Given the description of an element on the screen output the (x, y) to click on. 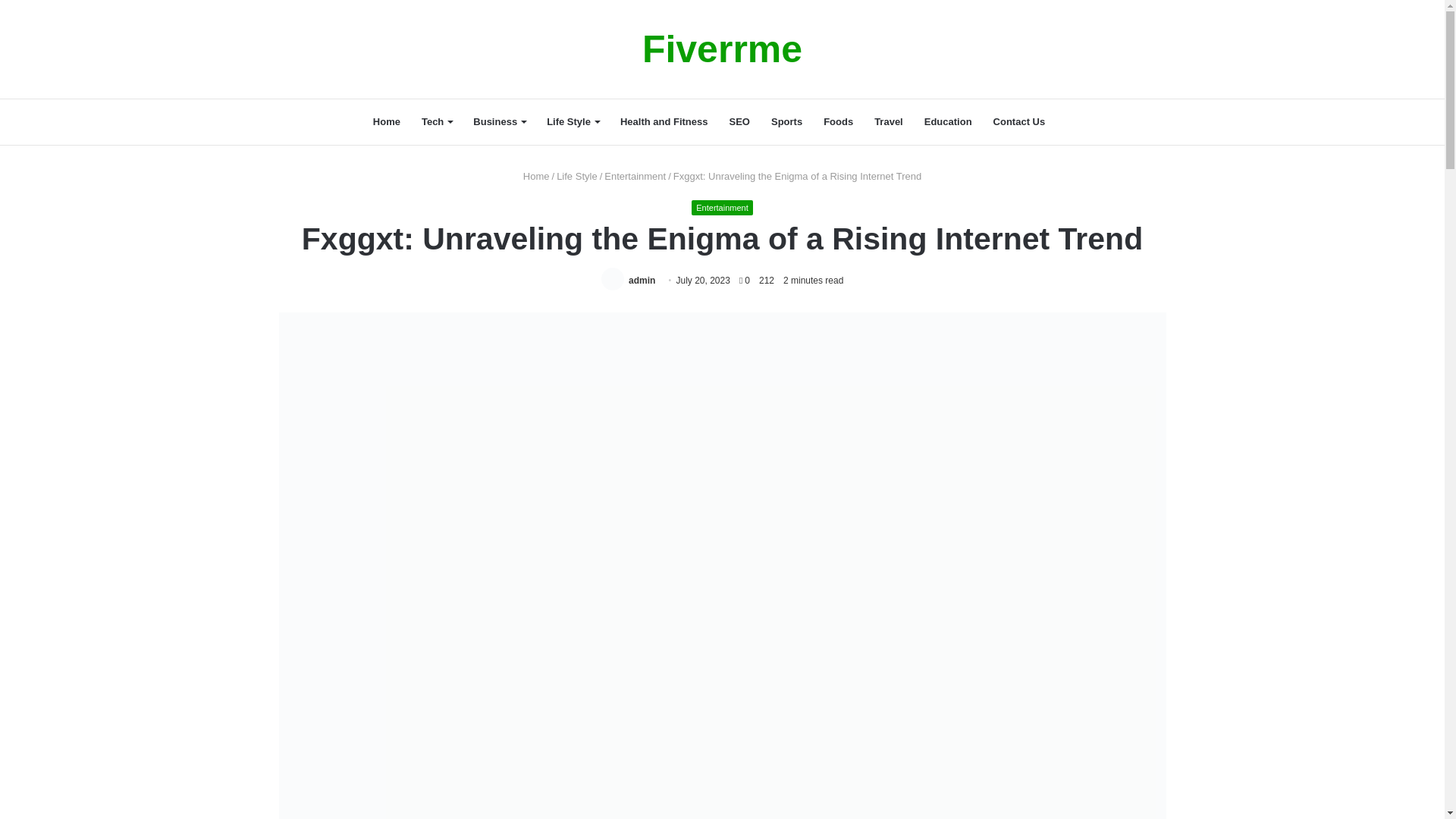
Fiverrme (722, 48)
Tech (436, 121)
Home (536, 175)
Foods (837, 121)
Health and Fitness (664, 121)
Travel (888, 121)
Life Style (576, 175)
Home (386, 121)
Entertainment (721, 207)
Business (499, 121)
